Given the description of an element on the screen output the (x, y) to click on. 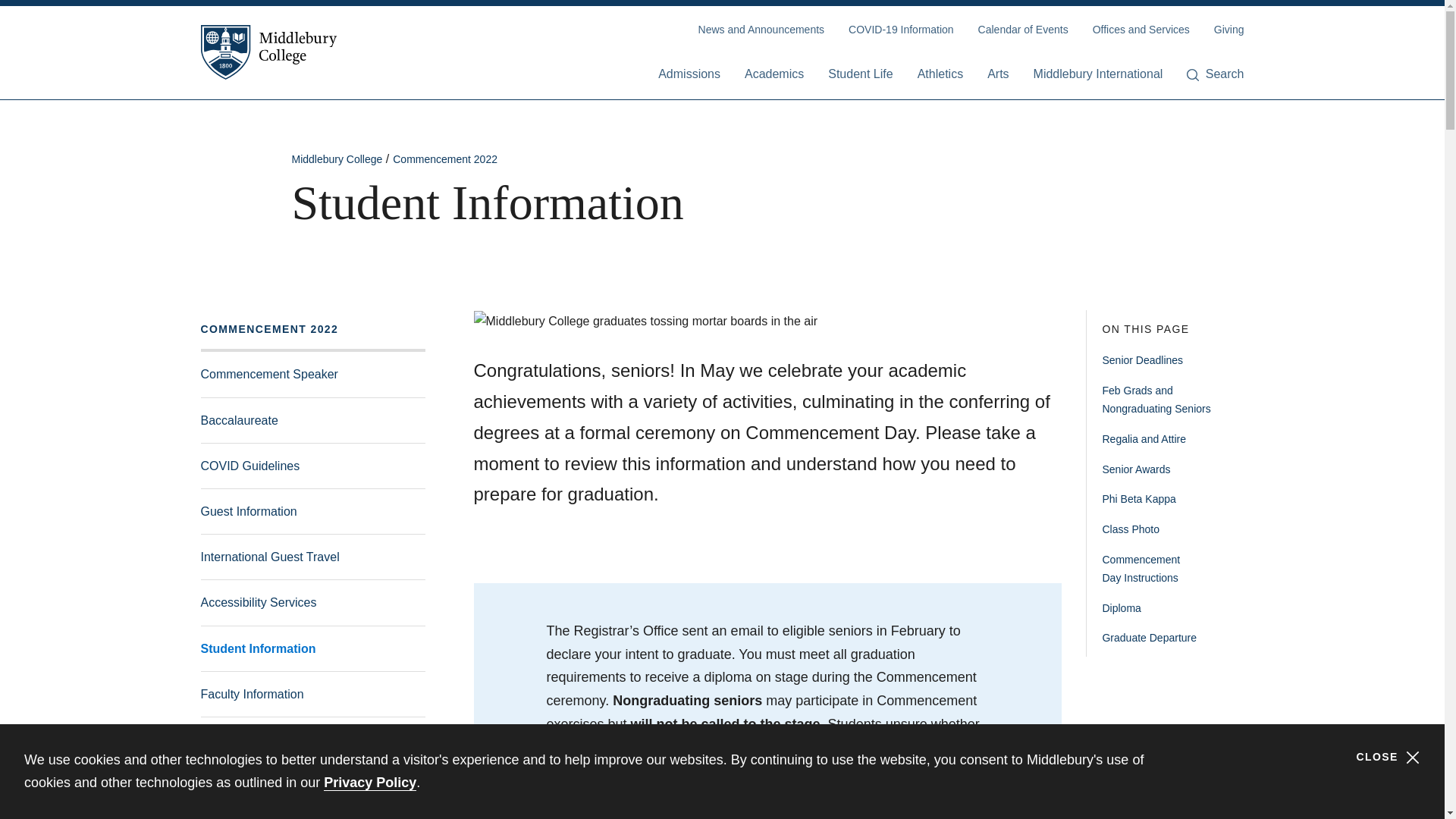
Privacy Policy (369, 782)
How to prepare for graduation. (312, 648)
Student Life (860, 75)
CLOSE (1388, 757)
Admissions (689, 75)
Arts (998, 75)
Visa guidance for international guests. (312, 556)
Weather preparations for Commencement Day (312, 784)
Middlebury College (268, 51)
Athletics (939, 75)
Information for making the most of Commencement Weekend! (312, 510)
Ordering regalia and attending the ceremony. (312, 693)
Academics (773, 75)
Services available for Commencement guests. (312, 601)
